Given the description of an element on the screen output the (x, y) to click on. 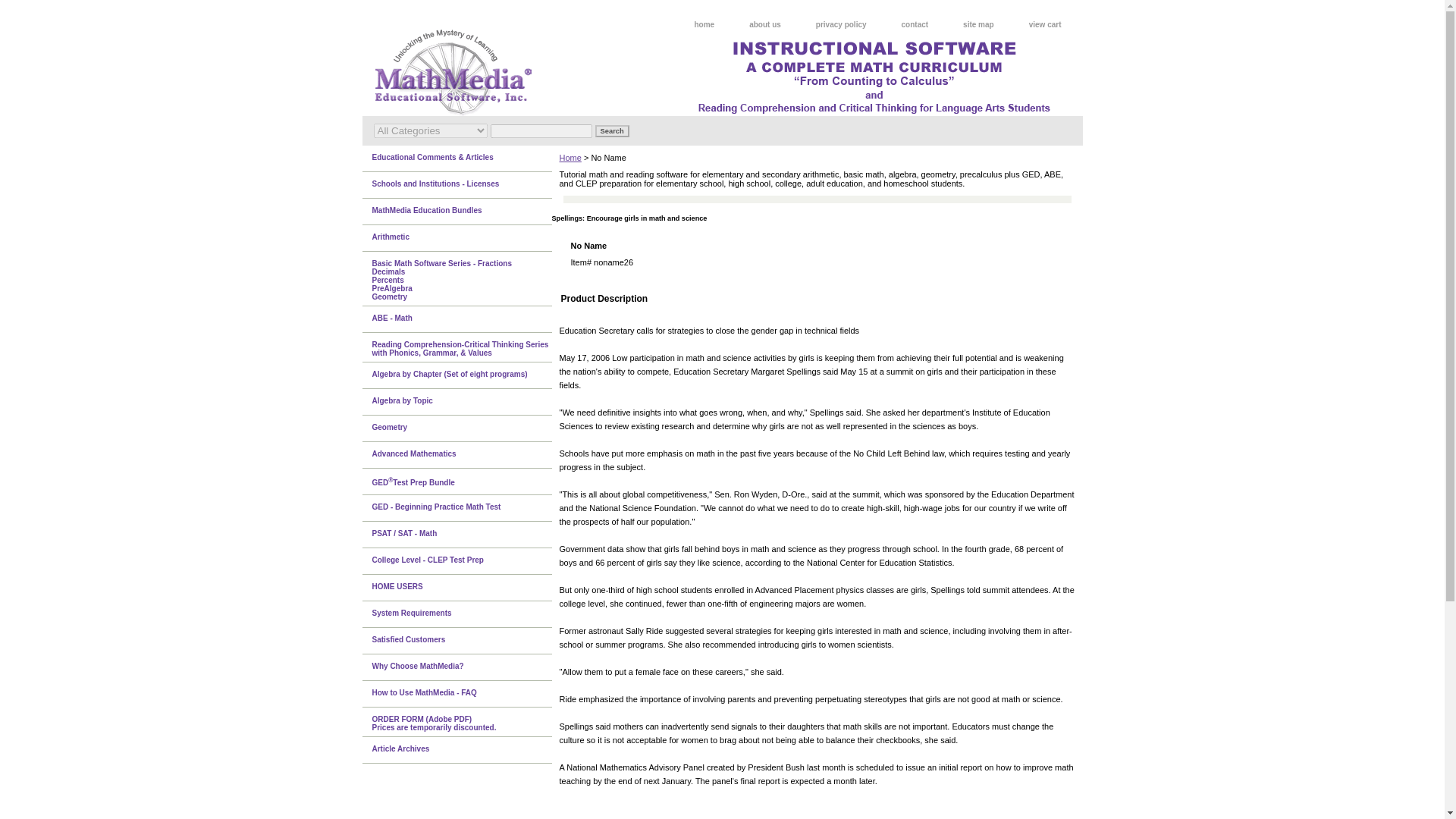
System Requirements (463, 614)
Geometry (463, 428)
privacy policy (841, 25)
Satisfied Customers (463, 641)
home (704, 25)
MathMedia Education Bundles (463, 212)
Home (569, 157)
site map (978, 25)
Advanced Mathematics (463, 455)
view cart (1045, 25)
HOME USERS (463, 587)
Search (611, 131)
Algebra by Topic (463, 402)
Schools and Institutions - Licenses (463, 185)
